Given the description of an element on the screen output the (x, y) to click on. 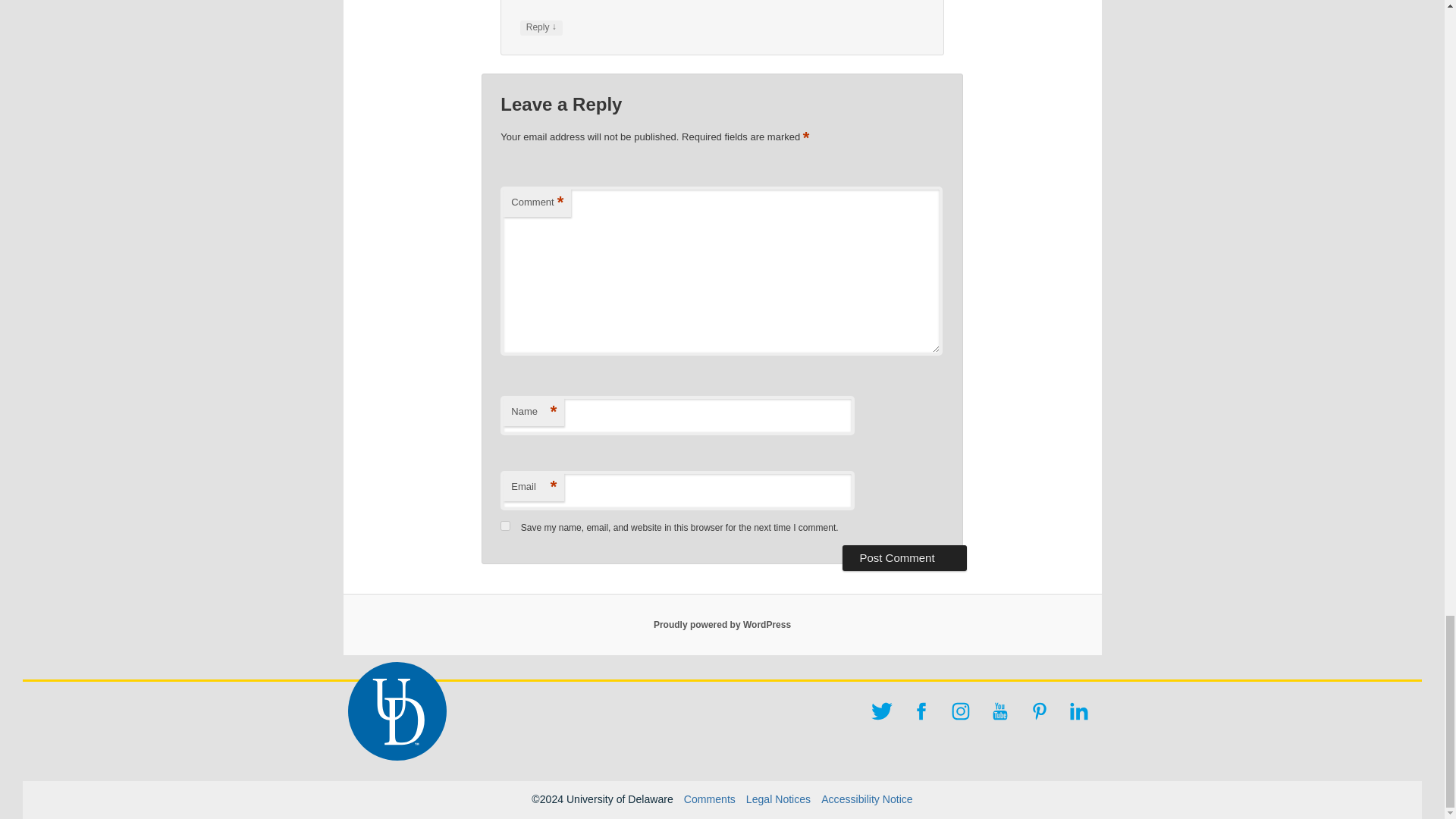
Semantic Personal Publishing Platform (721, 624)
Proudly powered by WordPress (721, 624)
yes (505, 525)
Comments (709, 799)
Post Comment (904, 557)
Post Comment (904, 557)
